Given the description of an element on the screen output the (x, y) to click on. 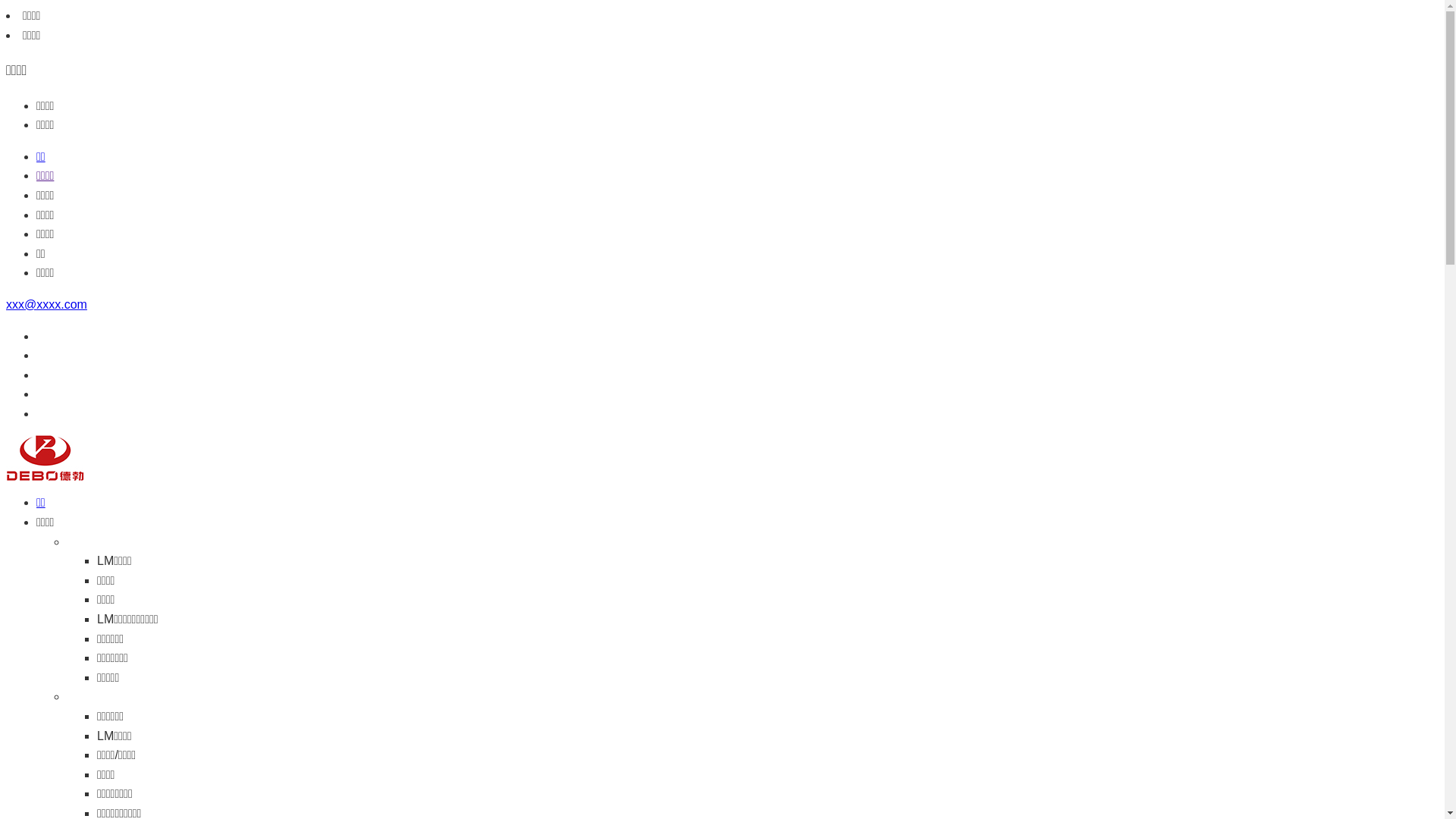
xxx@xxxx.com Element type: text (46, 304)
